Given the description of an element on the screen output the (x, y) to click on. 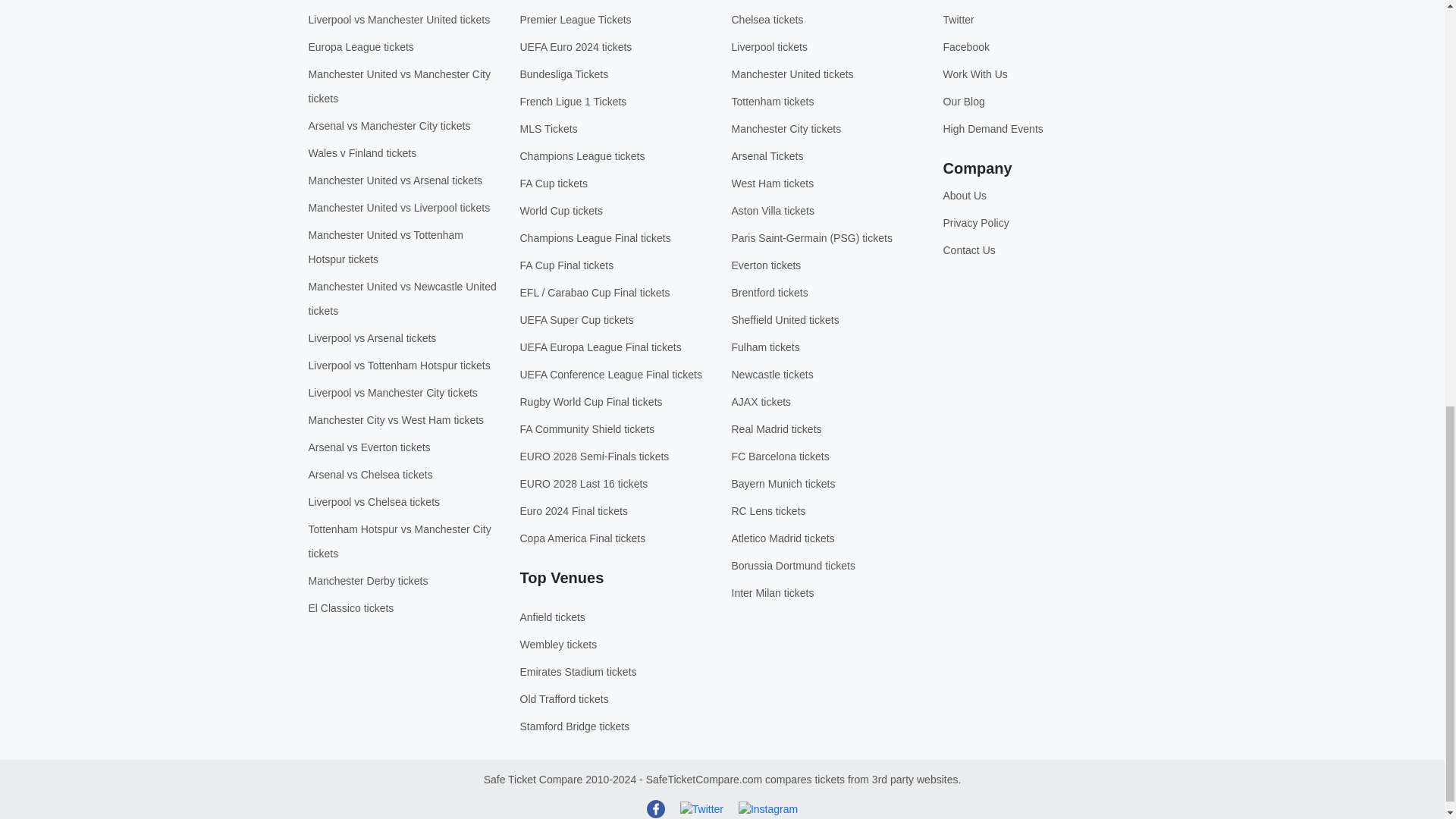
El Classico tickets (350, 607)
Manchester United vs Liverpool tickets (398, 207)
Manchester Derby tickets (367, 580)
Wales vs Finland tickets (361, 152)
Manchester United vs Arsenal tickets (394, 180)
Liverpool vs Chelsea tickets (373, 501)
Manchester United vs Newcastle United tickets (401, 298)
Manchester United vs Manchester City tickets (398, 85)
Arsenal vs Everton tickets (368, 447)
Arsenal vs Manchester City tickets (388, 125)
Manchester United vs Tottenham Hotspur tickets (385, 247)
UEFA Europa League tickets (360, 46)
Liverpool vs Tottenham Hotspur tickets (398, 365)
Tottenham Hotspur vs Manchester City tickets (398, 541)
Manchester City vs West Ham tickets (395, 419)
